Given the description of an element on the screen output the (x, y) to click on. 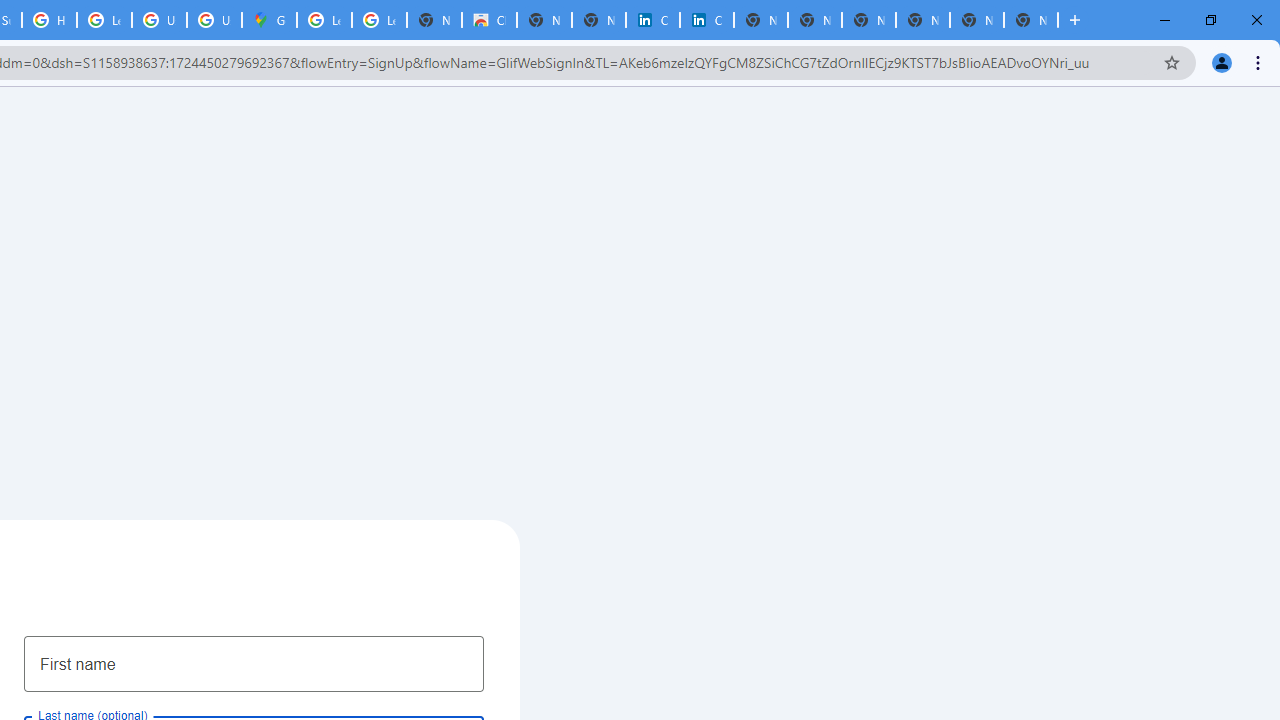
New Tab (1030, 20)
First name (253, 663)
